Given the description of an element on the screen output the (x, y) to click on. 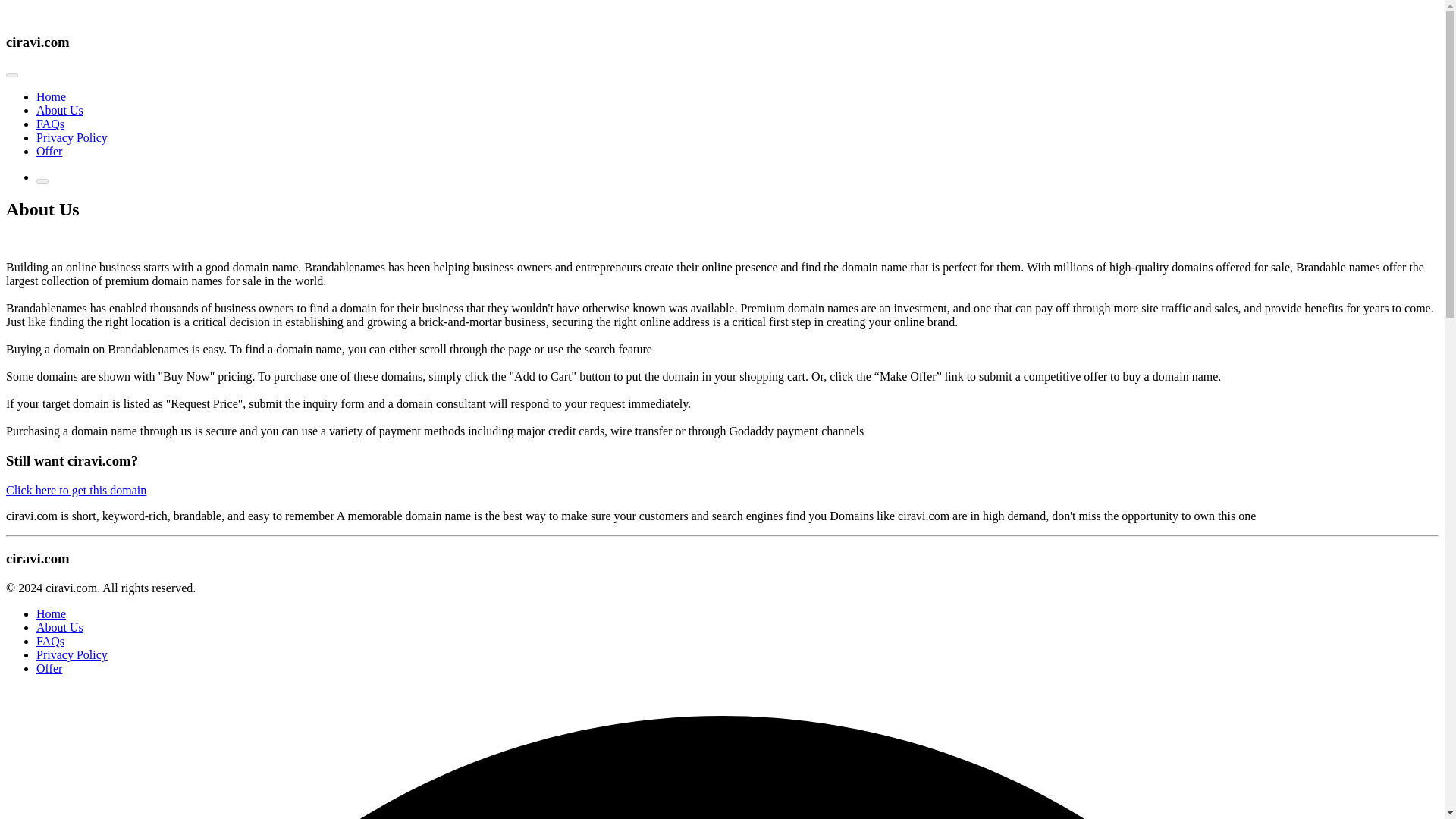
Offer (49, 151)
Offer (49, 667)
Click here to get this domain (76, 490)
Home (50, 613)
About Us (59, 626)
FAQs (50, 640)
Privacy Policy (71, 654)
Privacy Policy (71, 137)
About Us (59, 110)
Home (50, 96)
FAQs (50, 123)
